Given the description of an element on the screen output the (x, y) to click on. 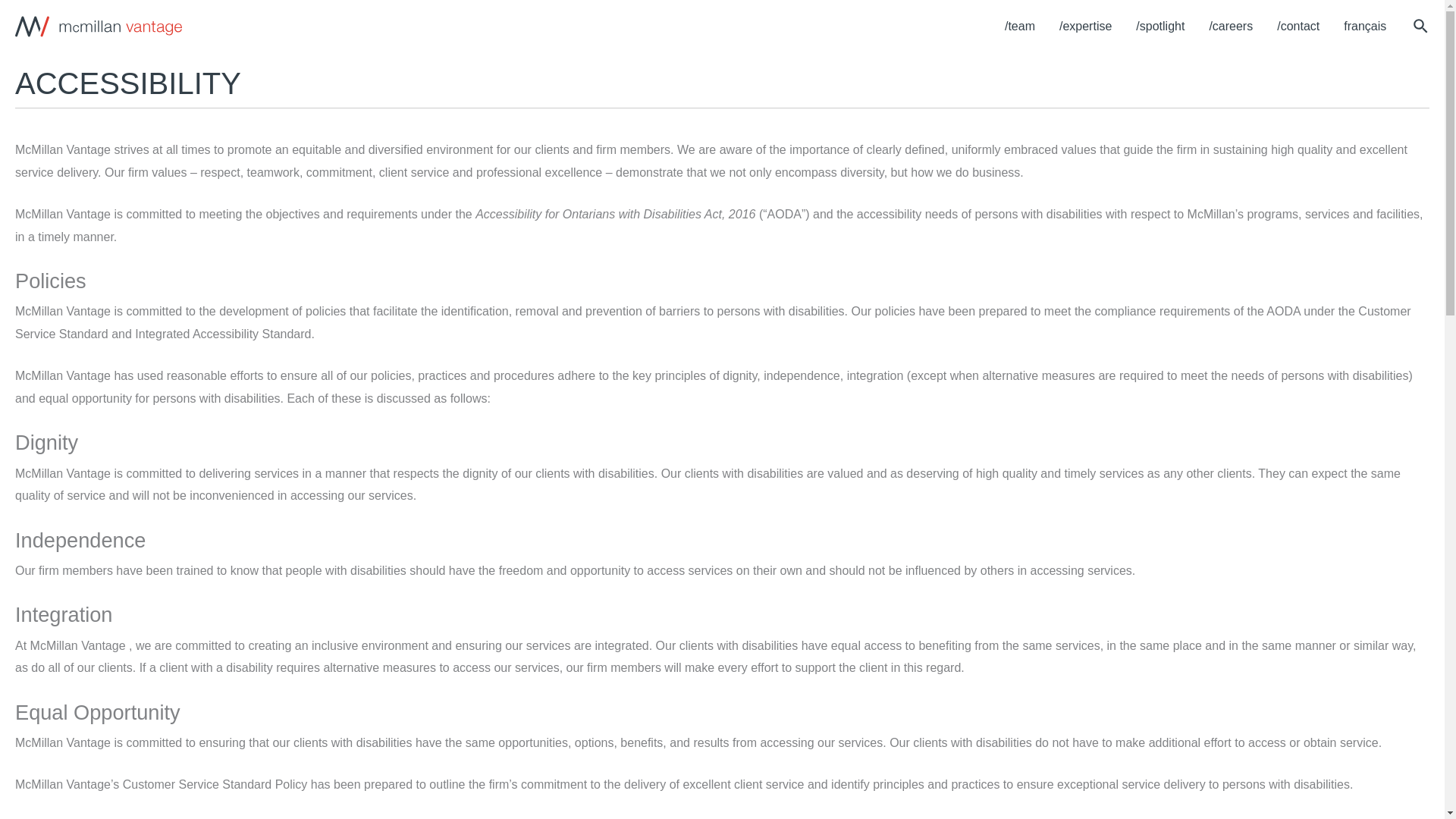
expertise (1085, 26)
spotlight (1160, 26)
contact (1298, 26)
careers (1230, 26)
team (1019, 26)
